Given the description of an element on the screen output the (x, y) to click on. 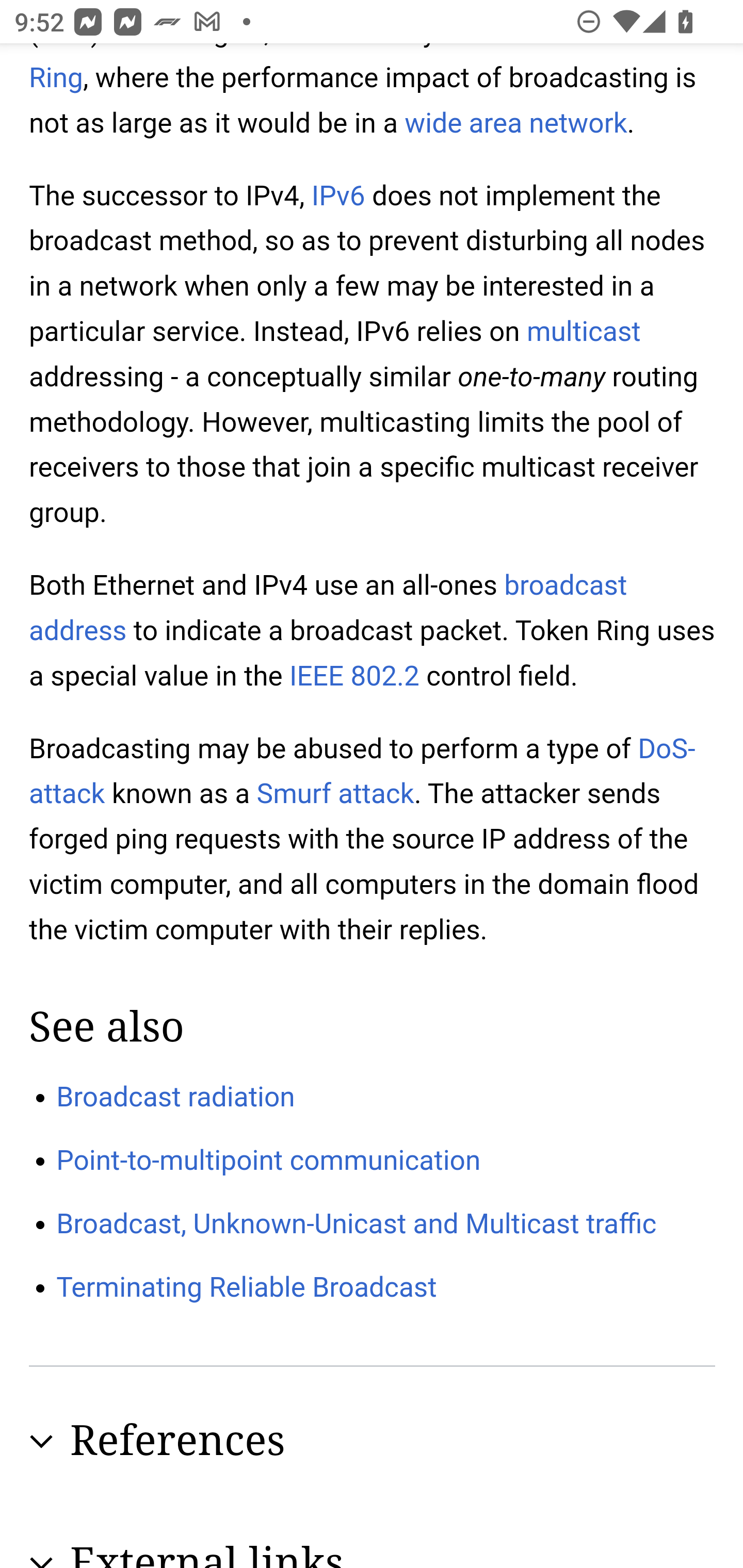
Token Ring (353, 69)
wide area network (516, 123)
IPv6 (338, 195)
multicast (582, 330)
broadcast address (328, 607)
IEEE 802.2 (354, 675)
DoS-attack (362, 770)
Smurf attack (335, 793)
Broadcast radiation (175, 1095)
Point-to-multipoint communication (268, 1160)
Broadcast, Unknown-Unicast and Multicast traffic (356, 1222)
Terminating Reliable Broadcast (246, 1287)
Expand section References (372, 1441)
Expand section (41, 1441)
Expand section (41, 1559)
